Given the description of an element on the screen output the (x, y) to click on. 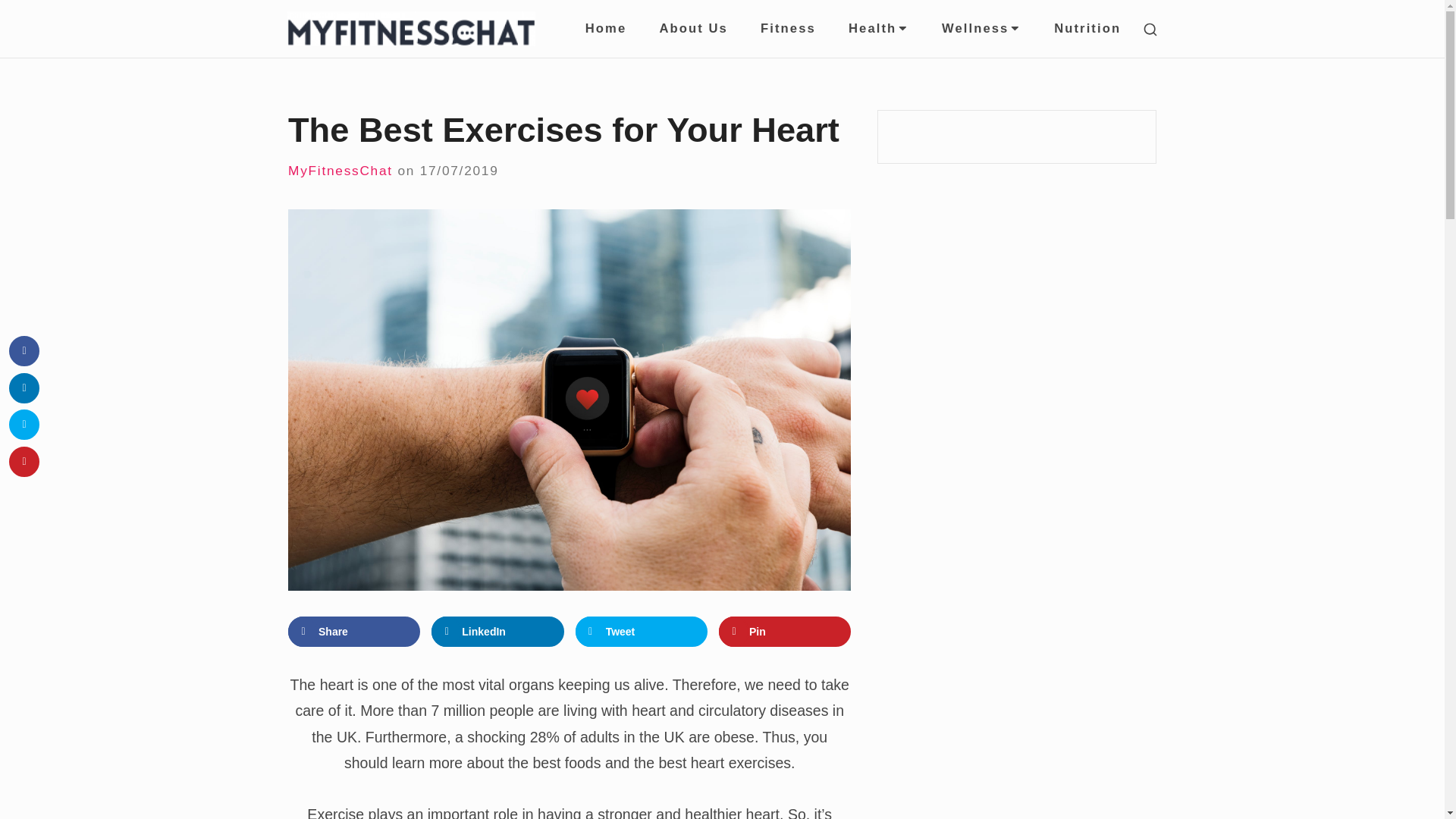
Health (878, 28)
LinkedIn (496, 631)
Tweet (641, 631)
About Us (693, 28)
Home (605, 28)
Pin (784, 631)
Wellness (981, 28)
Fitness (787, 28)
SHOW SECONDARY SIDEBAR (1150, 29)
